Given the description of an element on the screen output the (x, y) to click on. 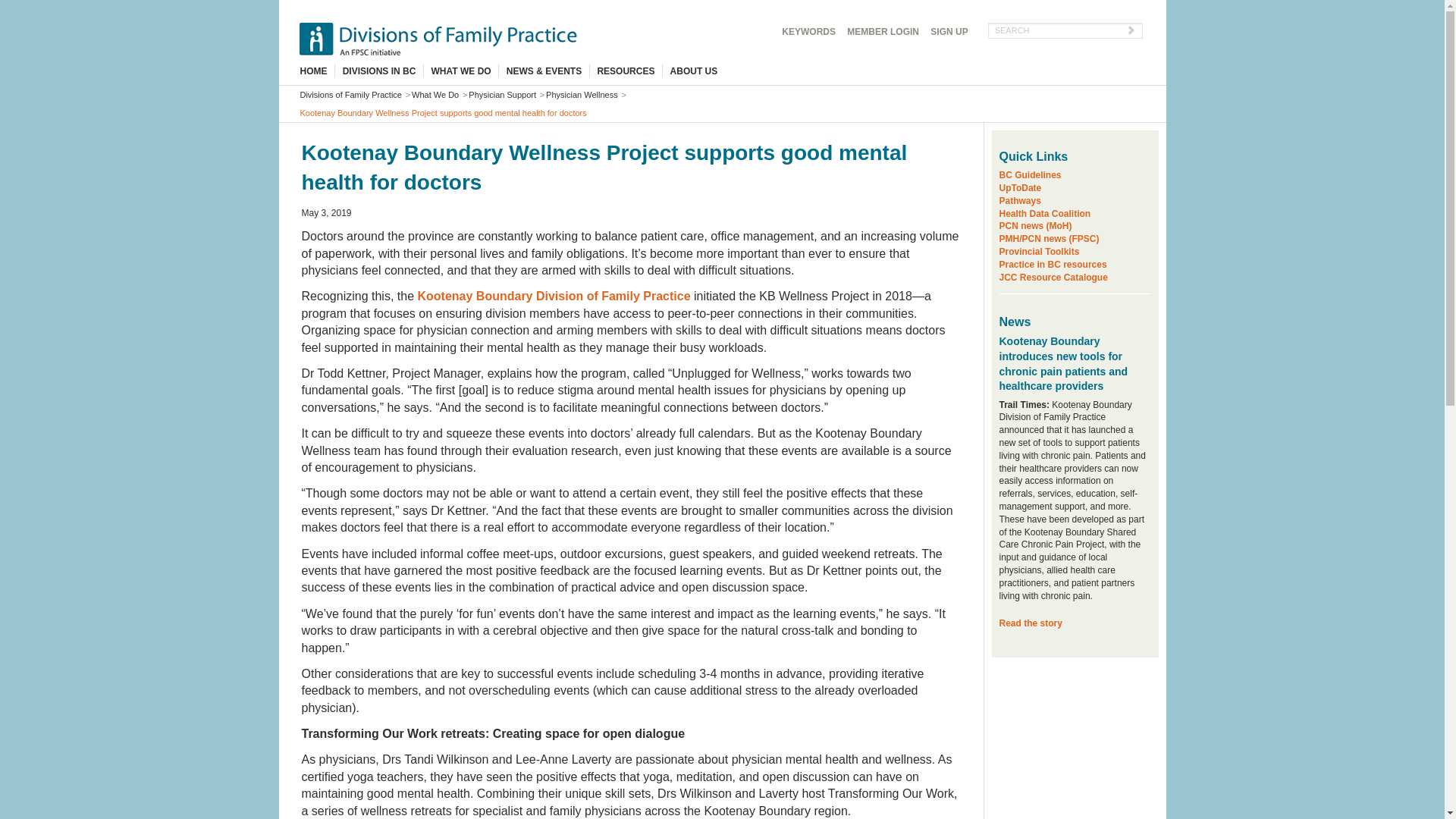
KEYWORDS (808, 31)
MEMBER LOGIN (883, 31)
Friday, May 3, 2019 - 12:17pm (326, 213)
DIVISIONS IN BC (378, 70)
Search (959, 46)
HOME (316, 70)
SIGN UP (949, 31)
Enter the terms you wish to search for. (1065, 30)
